Given the description of an element on the screen output the (x, y) to click on. 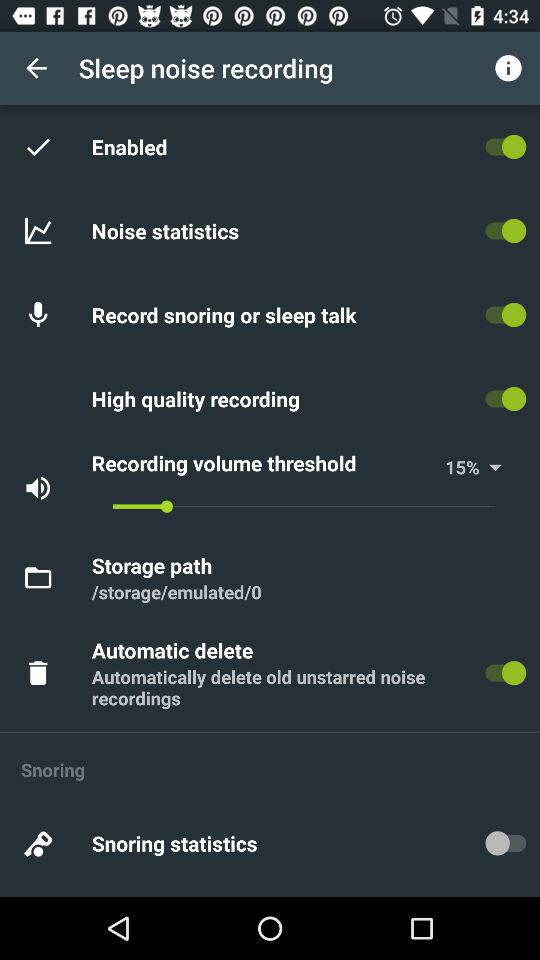
click the item below the high quality recording item (265, 462)
